Given the description of an element on the screen output the (x, y) to click on. 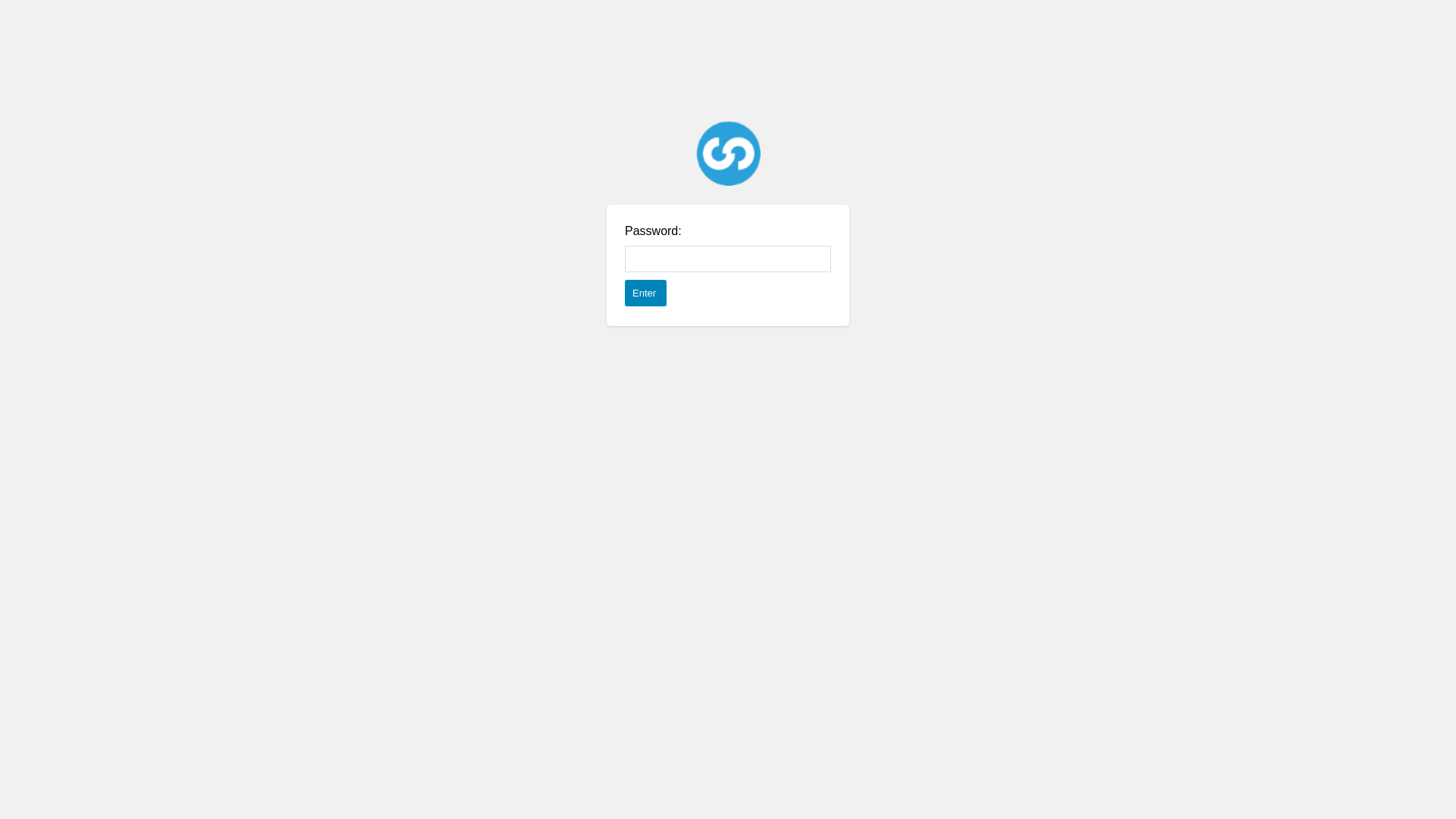
Password Protect WordPress plugin Element type: text (728, 153)
Enter  Element type: text (645, 292)
